Given the description of an element on the screen output the (x, y) to click on. 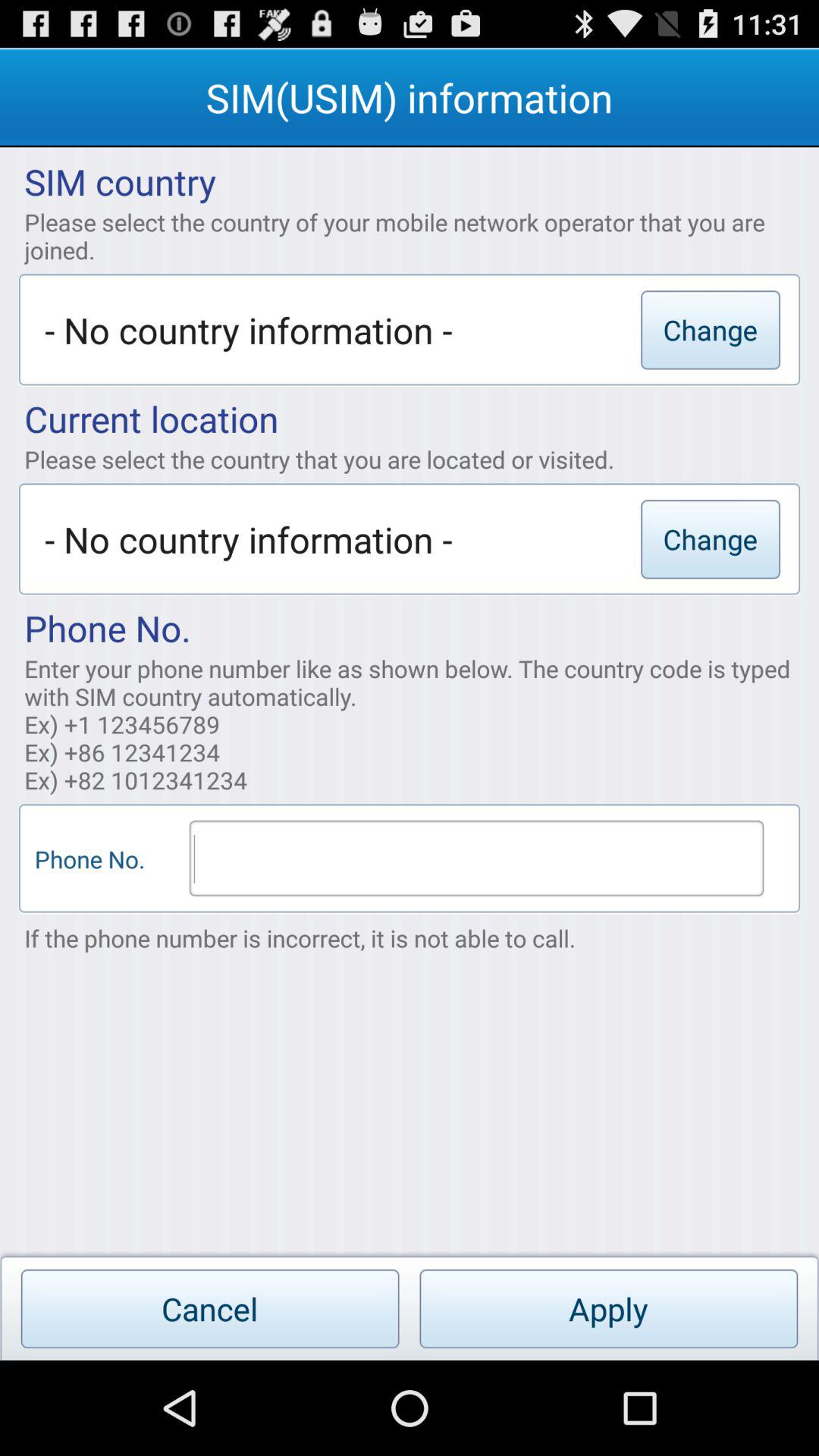
phone number (476, 858)
